Given the description of an element on the screen output the (x, y) to click on. 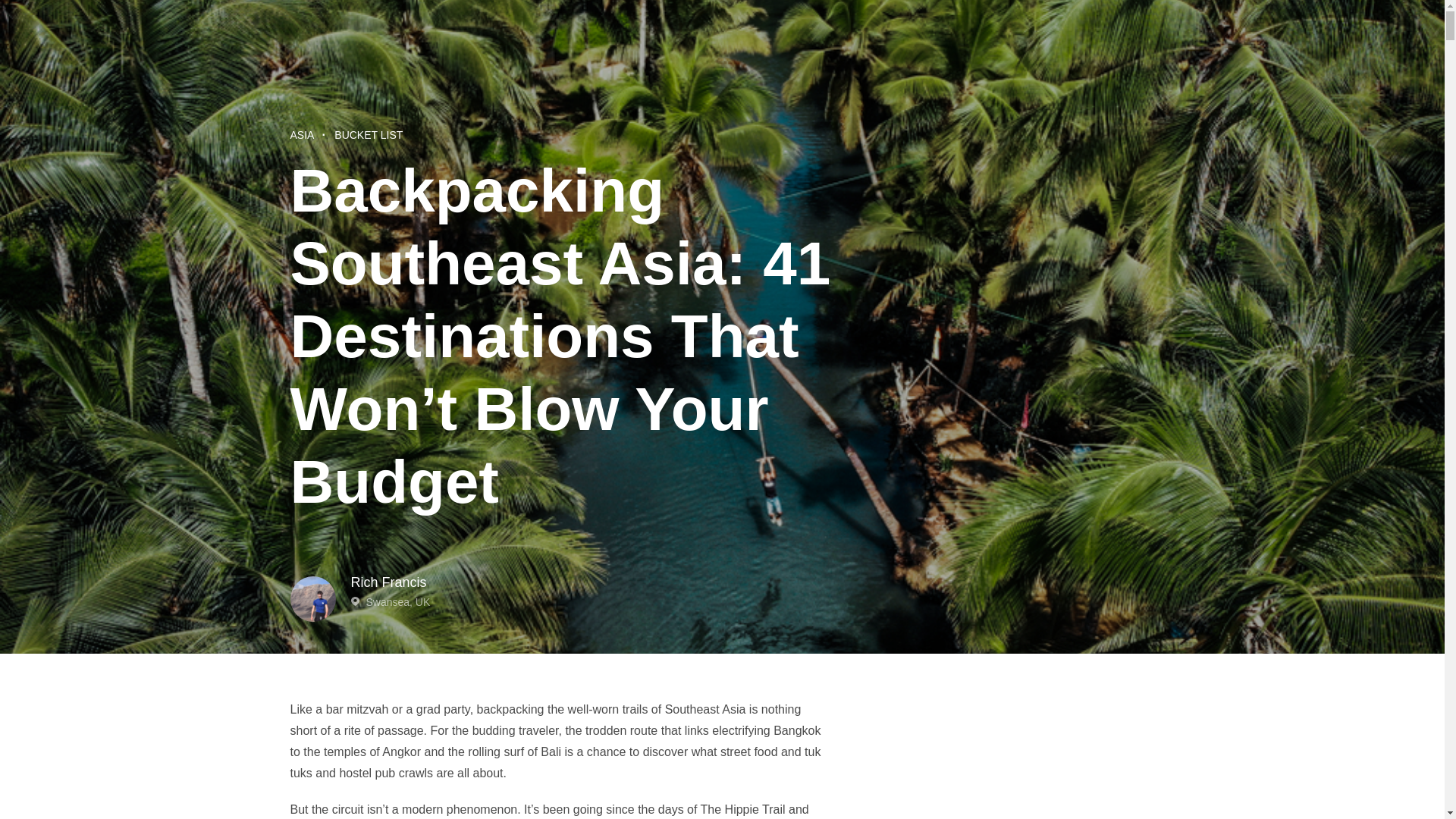
Rich Francis (752, 582)
ASIA (301, 134)
BUCKET LIST (368, 134)
